Given the description of an element on the screen output the (x, y) to click on. 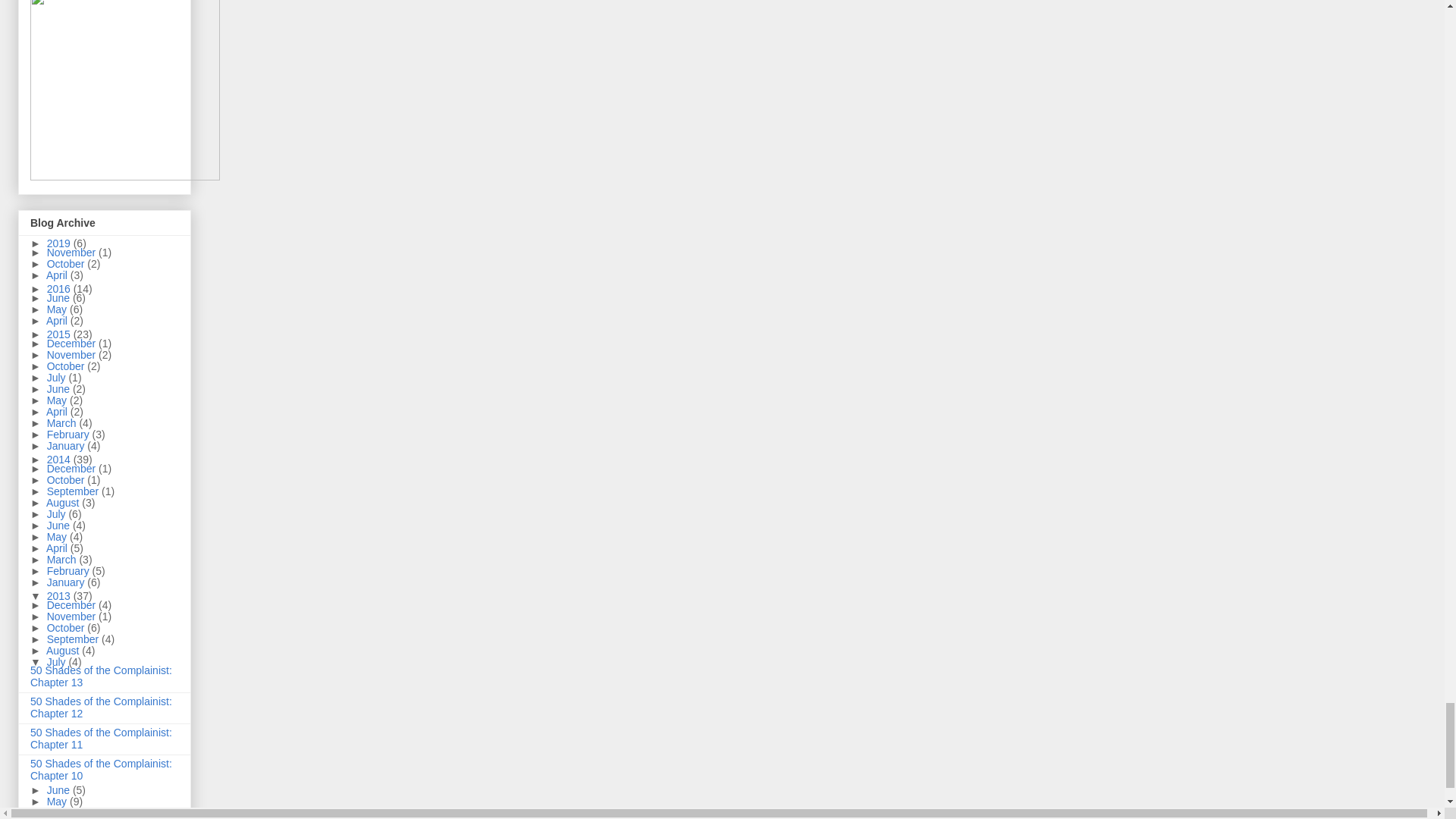
2019 (60, 243)
June (59, 297)
April (57, 275)
2016 (60, 288)
April (57, 320)
October (66, 263)
May (57, 309)
November (72, 252)
